Given the description of an element on the screen output the (x, y) to click on. 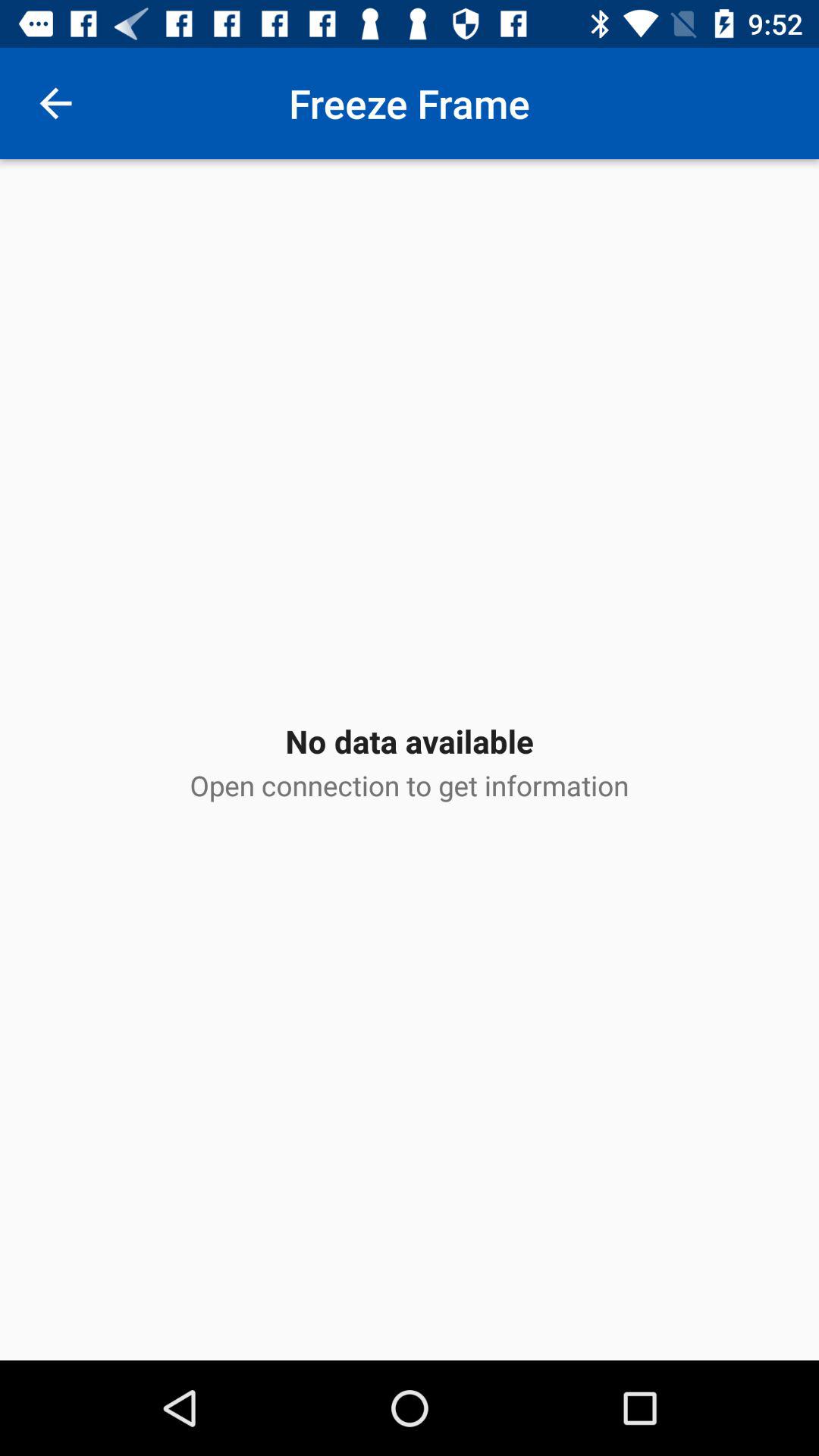
press the icon to the left of freeze frame icon (55, 103)
